Given the description of an element on the screen output the (x, y) to click on. 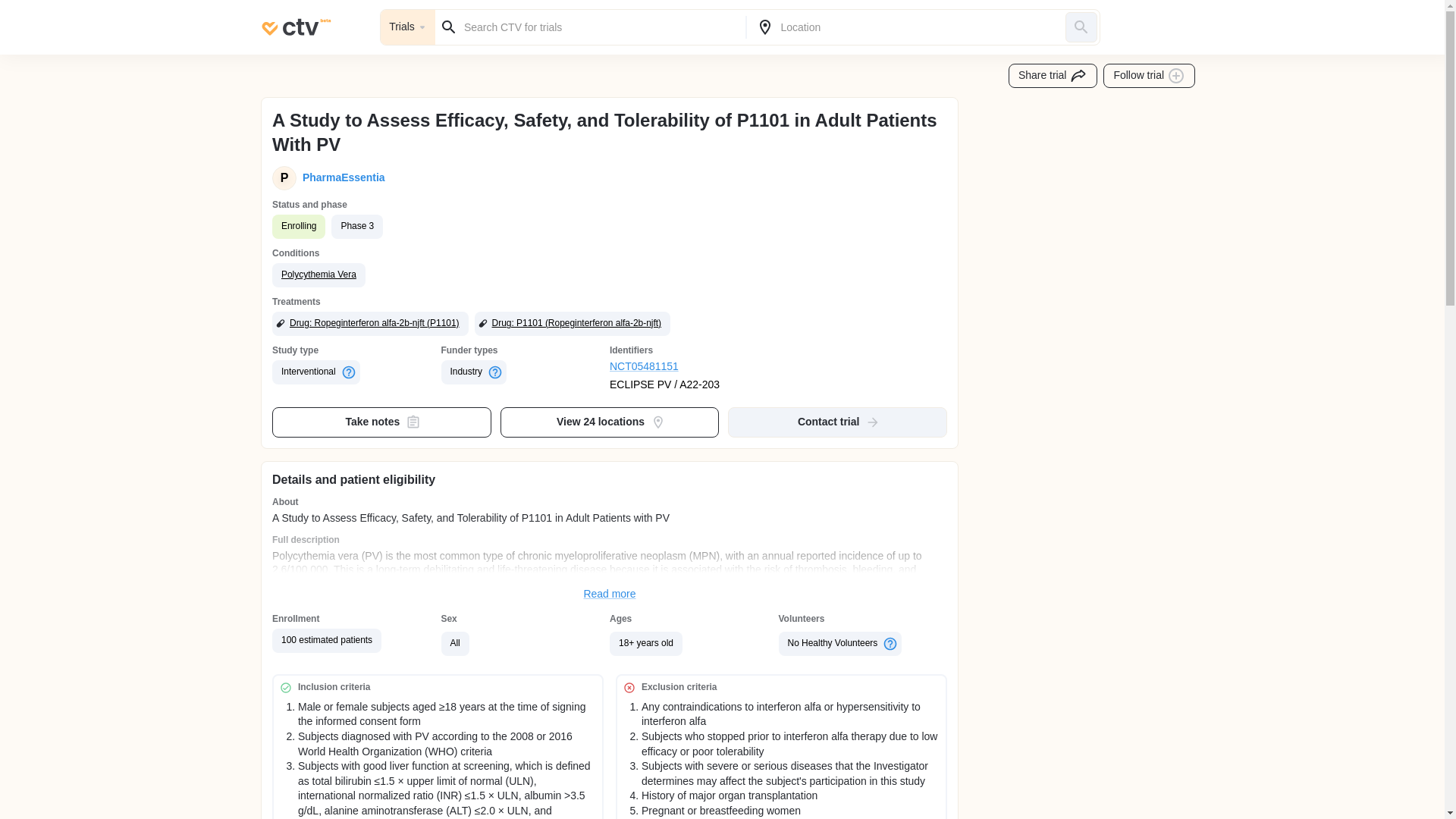
Follow trial (1149, 75)
Take notes (382, 422)
Read more (609, 594)
Contact trial (837, 422)
Trials (407, 27)
NCT05481151 (694, 366)
PharmaEssentia (341, 178)
View 24 locations (609, 422)
Share trial (1053, 75)
